Given the description of an element on the screen output the (x, y) to click on. 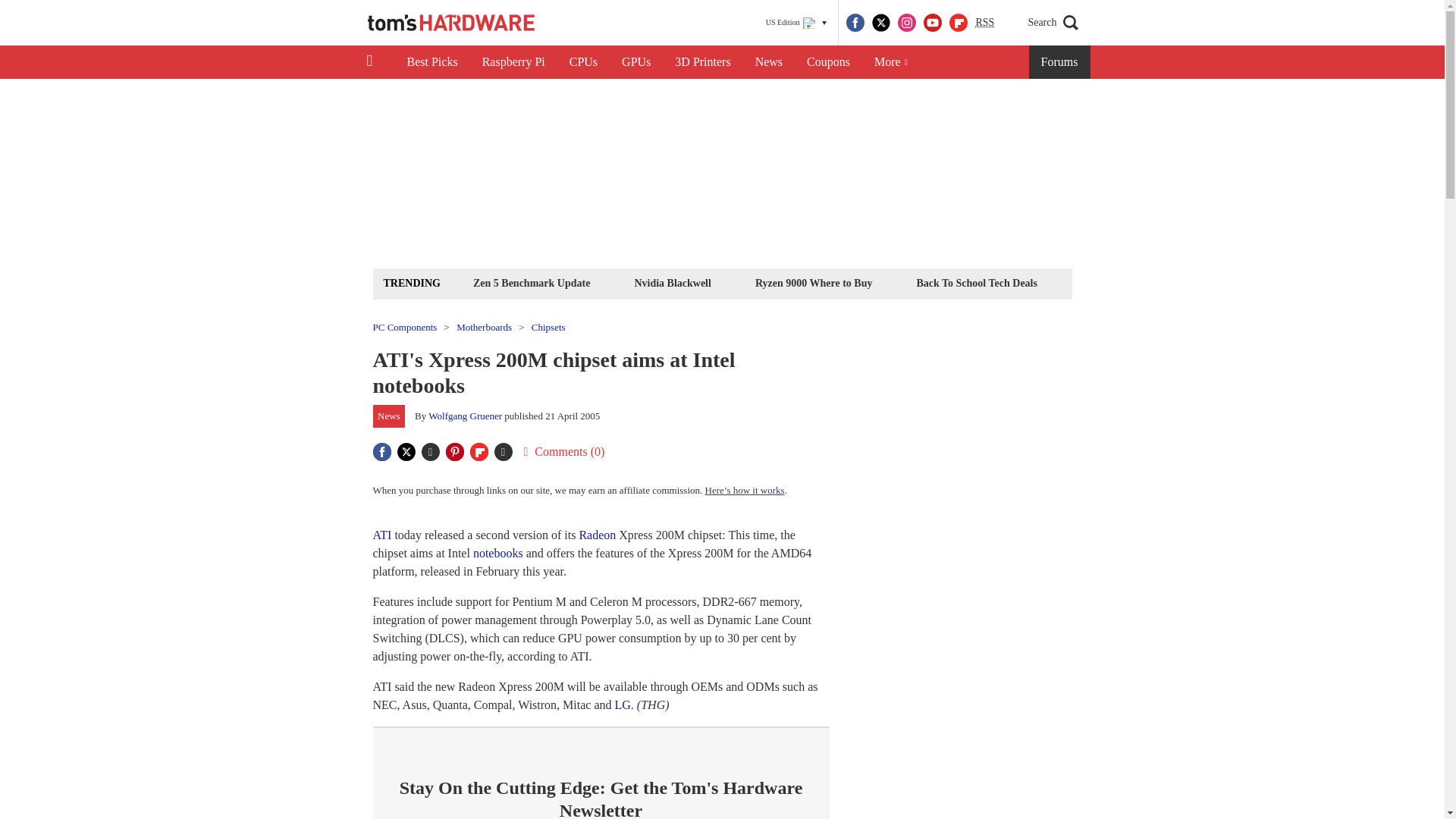
CPUs (583, 61)
GPUs (636, 61)
RSS (984, 22)
Coupons (827, 61)
3D Printers (702, 61)
Really Simple Syndication (984, 21)
Raspberry Pi (513, 61)
News (768, 61)
Forums (1059, 61)
US Edition (796, 22)
